Given the description of an element on the screen output the (x, y) to click on. 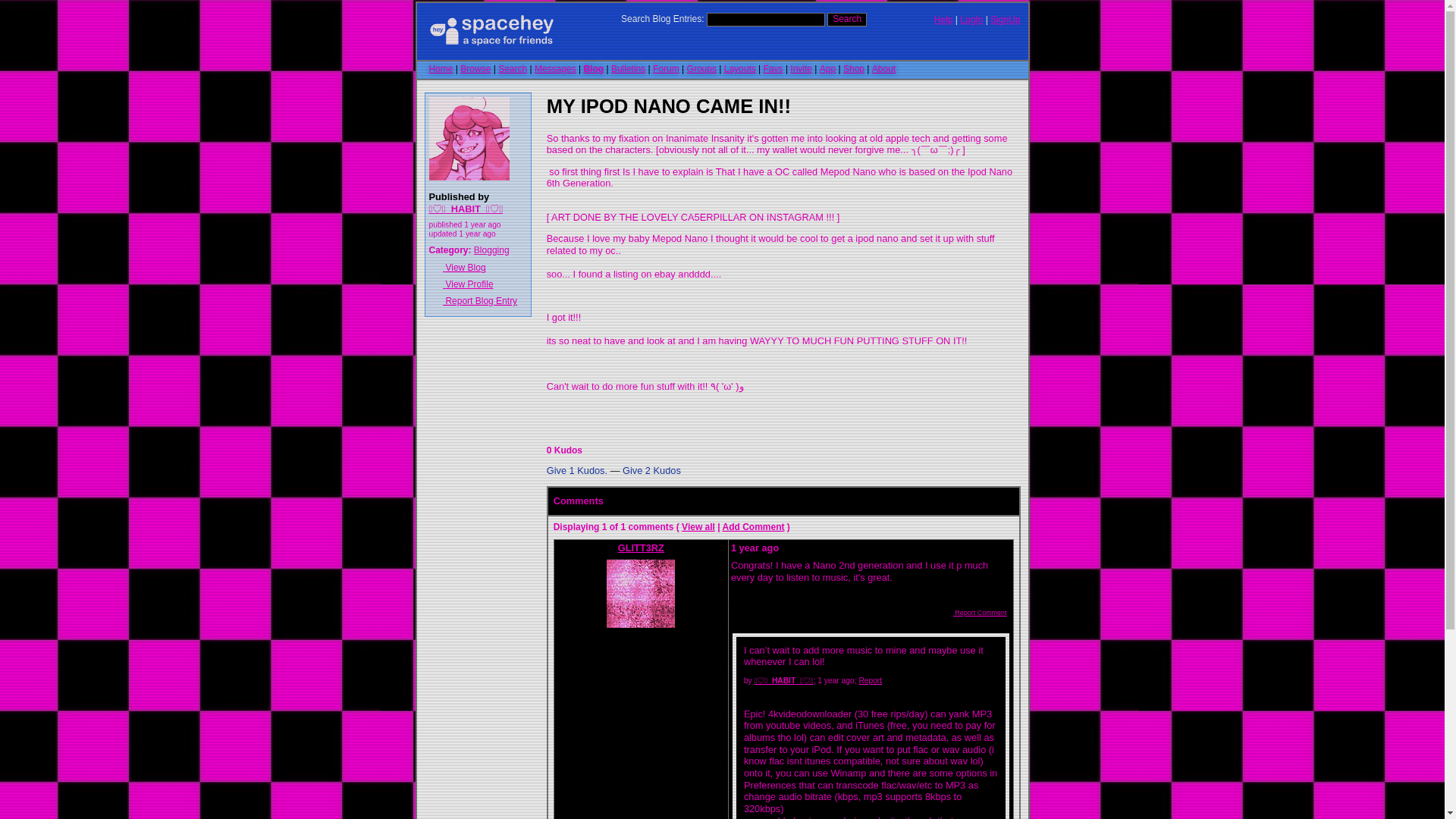
View Blog (478, 267)
Add Comment (753, 526)
View Profile (478, 283)
Messages (555, 68)
Forum (665, 68)
GLITT3RZ (640, 586)
Report Comment (974, 612)
View all (697, 526)
Browse (475, 68)
Layouts (739, 68)
Home (440, 68)
Report Blog Entry (478, 300)
Search (512, 68)
Groups (701, 68)
Favs (772, 68)
